Given the description of an element on the screen output the (x, y) to click on. 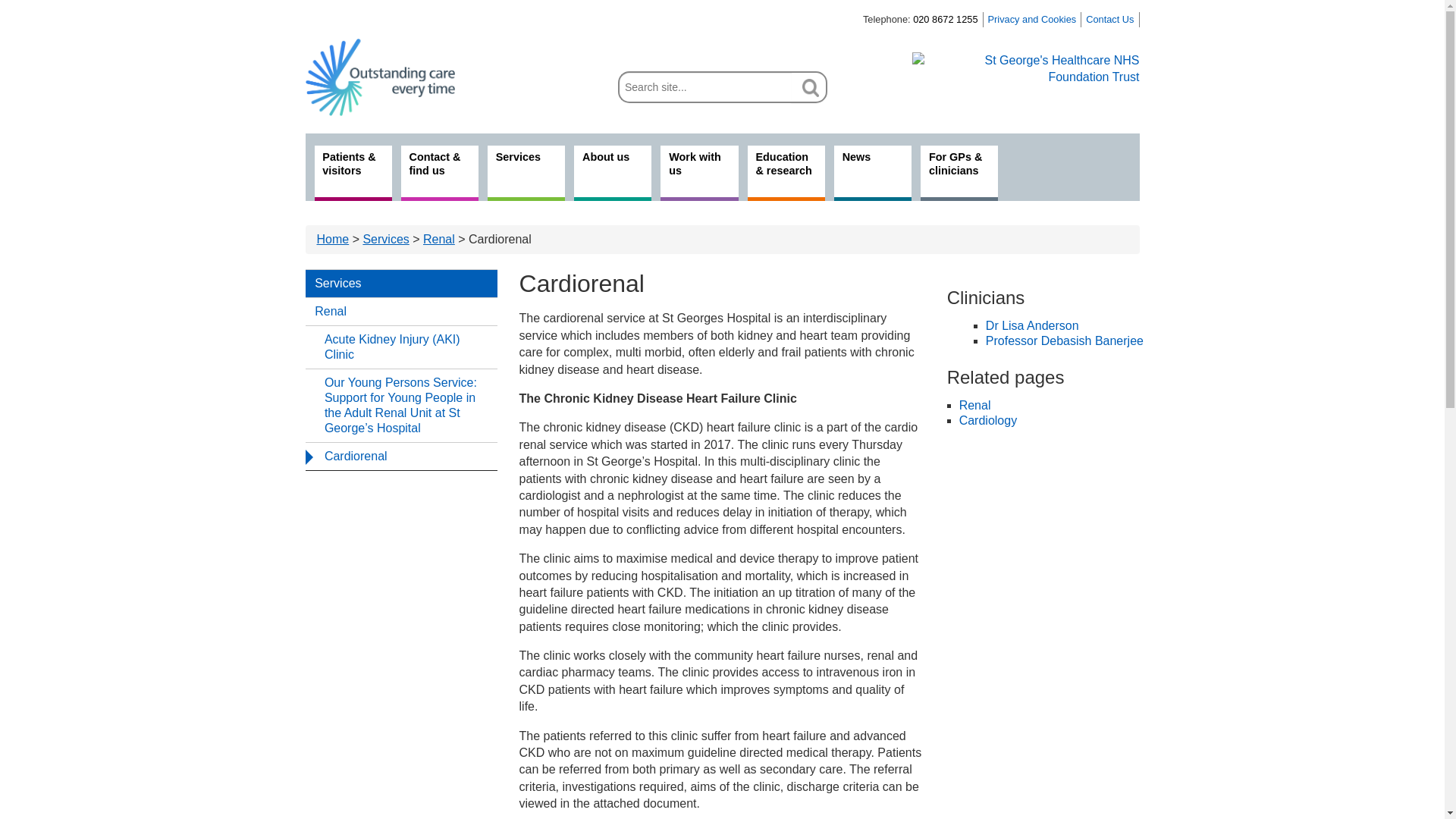
Cardiorenal (400, 456)
St George's University Hospitals NHS Foundation Trust (1024, 69)
Services (385, 238)
Go to St George's University Hospitals NHS Foundation Trust. (333, 238)
News (872, 172)
Privacy and Cookies (1032, 19)
Contact and find us (1110, 19)
Visiting us (440, 172)
Go to Renal. (438, 238)
Privacy and Cookies (1032, 19)
Work with us (699, 172)
Renal (438, 238)
020 8672 1255 (944, 19)
About us (611, 172)
Services (400, 283)
